Given the description of an element on the screen output the (x, y) to click on. 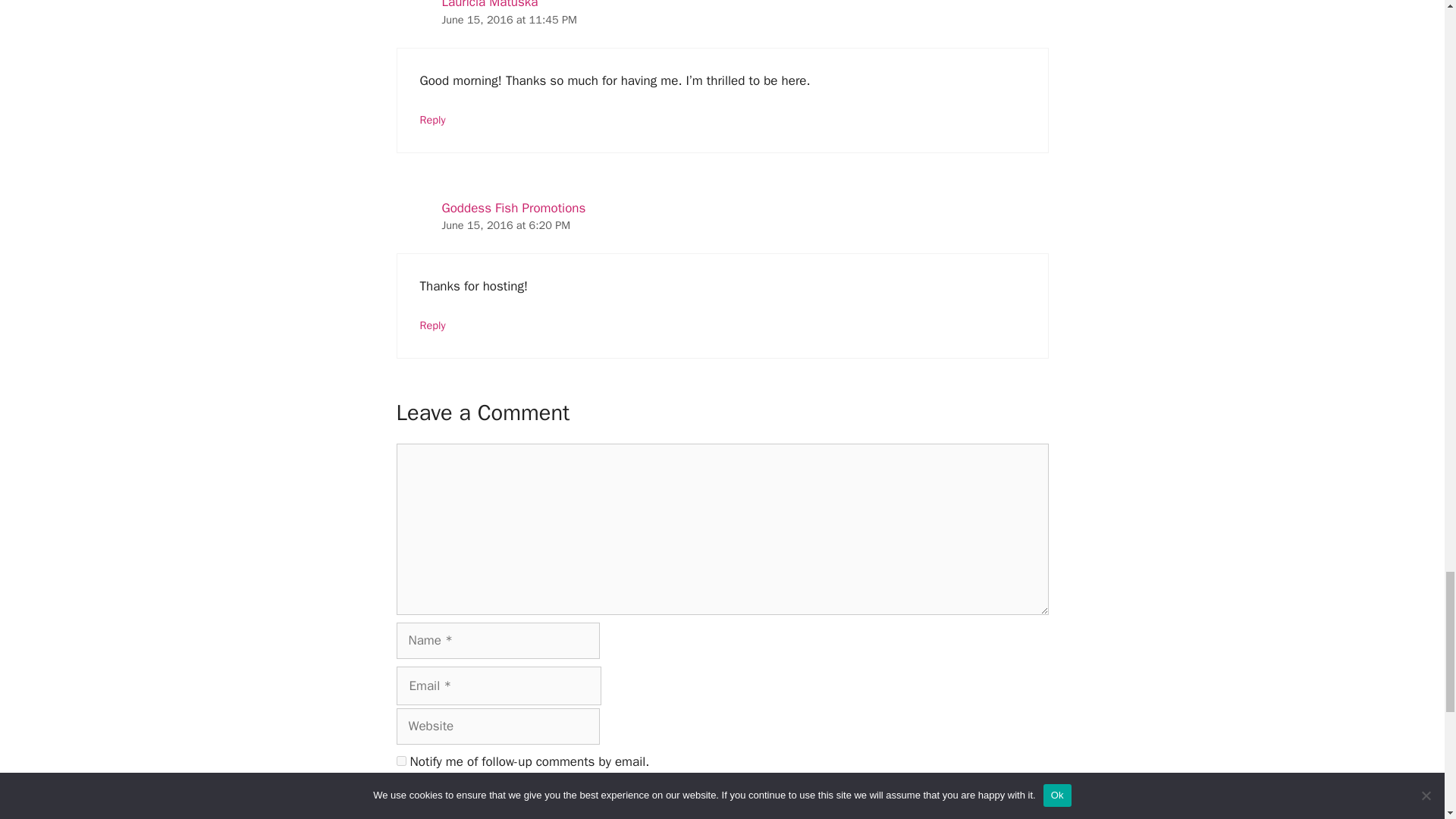
subscribe (401, 795)
subscribe (401, 759)
